Given the description of an element on the screen output the (x, y) to click on. 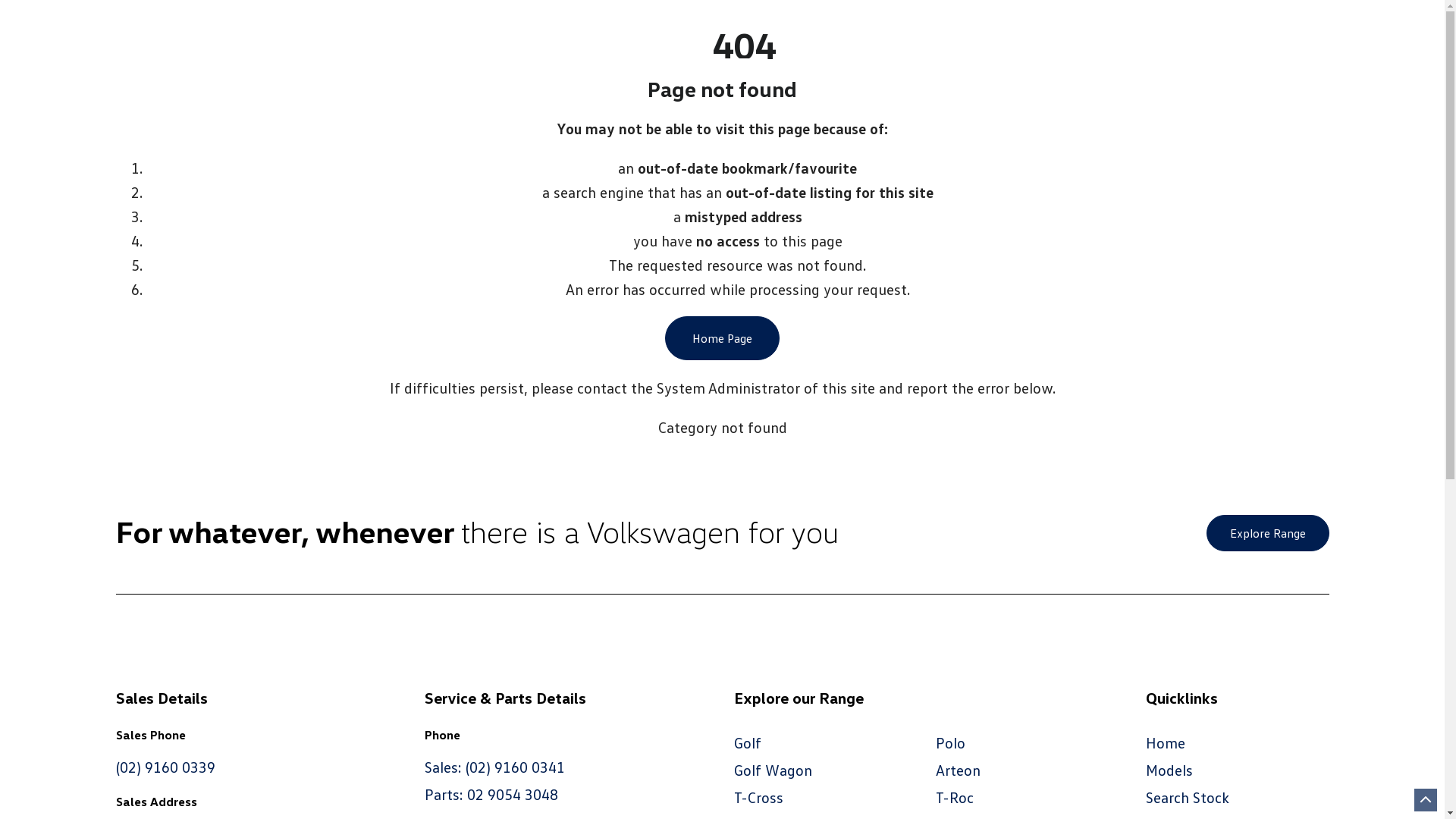
Sales: (02) 9160 0339 Element type: text (193, 29)
Models Element type: text (1168, 769)
Polo Element type: text (950, 742)
Arteon Element type: text (957, 769)
Home Page Element type: text (722, 338)
T-Cross Element type: text (758, 796)
Explore Range Element type: text (1266, 532)
Parts: 02 9054 3048 Element type: text (491, 793)
Home Element type: text (1165, 742)
Golf Wagon Element type: text (773, 769)
Sales: (02) 9160 0341 Element type: text (494, 766)
Denlo Volkswagen Element type: text (870, 58)
T-Roc Element type: text (954, 796)
Search Stock Element type: text (1187, 796)
Service: (02) 9160 0341 Element type: text (374, 29)
Golf Element type: text (747, 742)
(02) 9160 0339 Element type: text (164, 766)
